Given the description of an element on the screen output the (x, y) to click on. 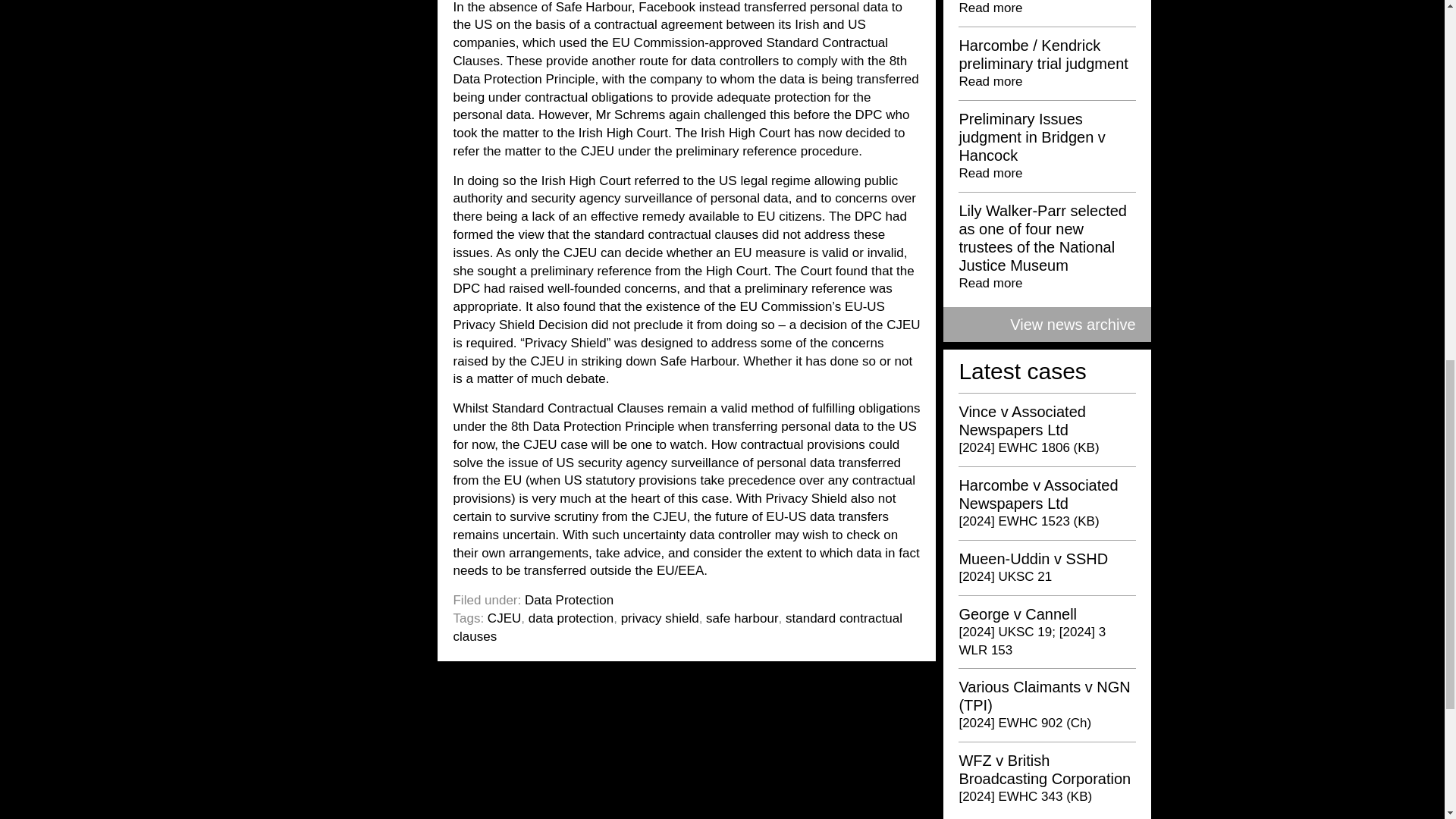
data protection (570, 617)
Standard Contractual Clauses (670, 51)
privacy shield (659, 617)
CJEU (504, 617)
safe harbour (741, 617)
standard contractual clauses (677, 626)
Data Protection (568, 599)
